Given the description of an element on the screen output the (x, y) to click on. 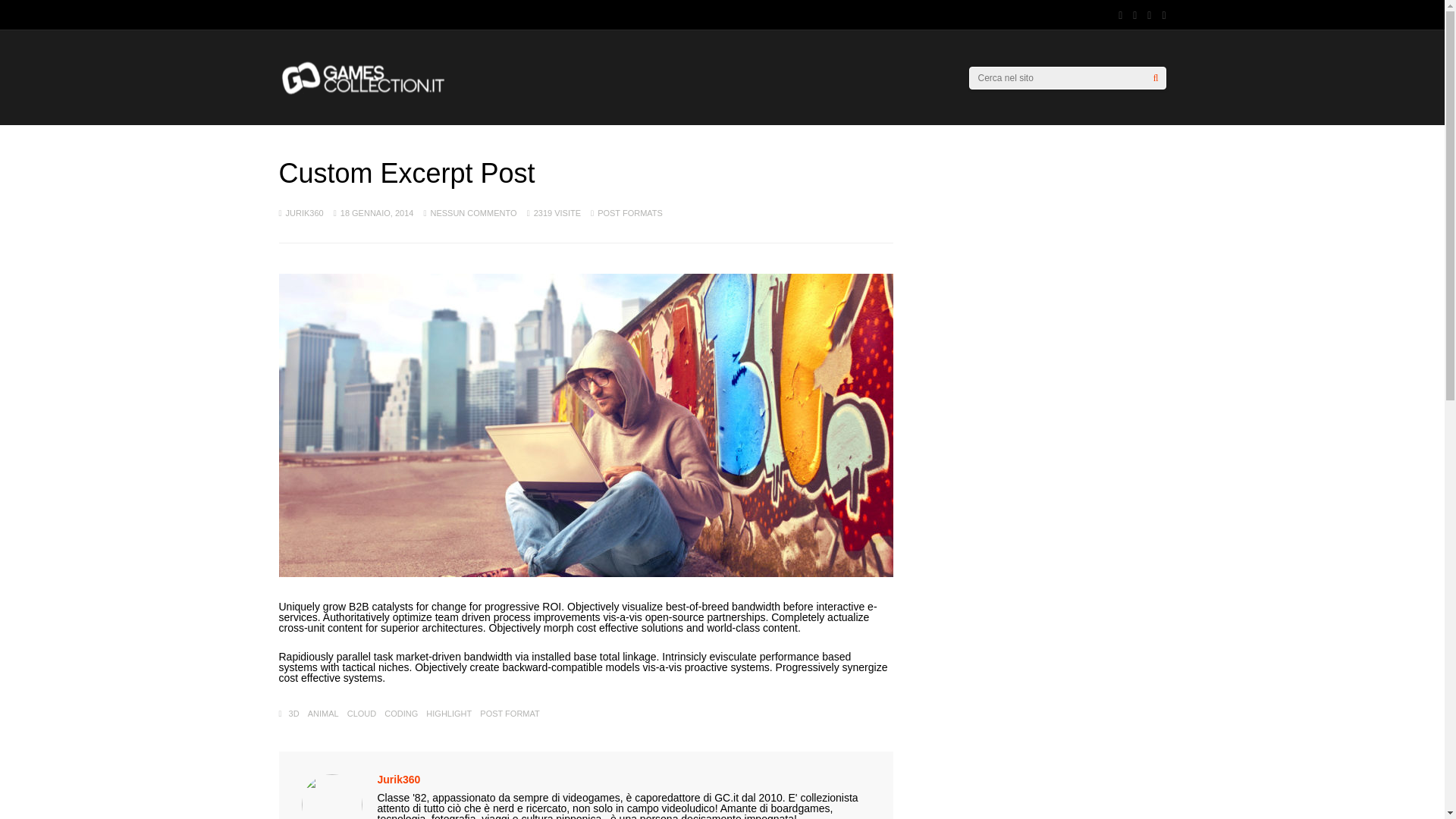
ANIMAL (323, 714)
HIGHLIGHT (448, 714)
JURIK360 (304, 212)
3D (293, 714)
CLOUD (361, 714)
Jurik360 (398, 779)
Gamescollection (364, 91)
NESSUN COMMENTO (472, 212)
CODING (400, 714)
POST FORMAT (509, 714)
